Given the description of an element on the screen output the (x, y) to click on. 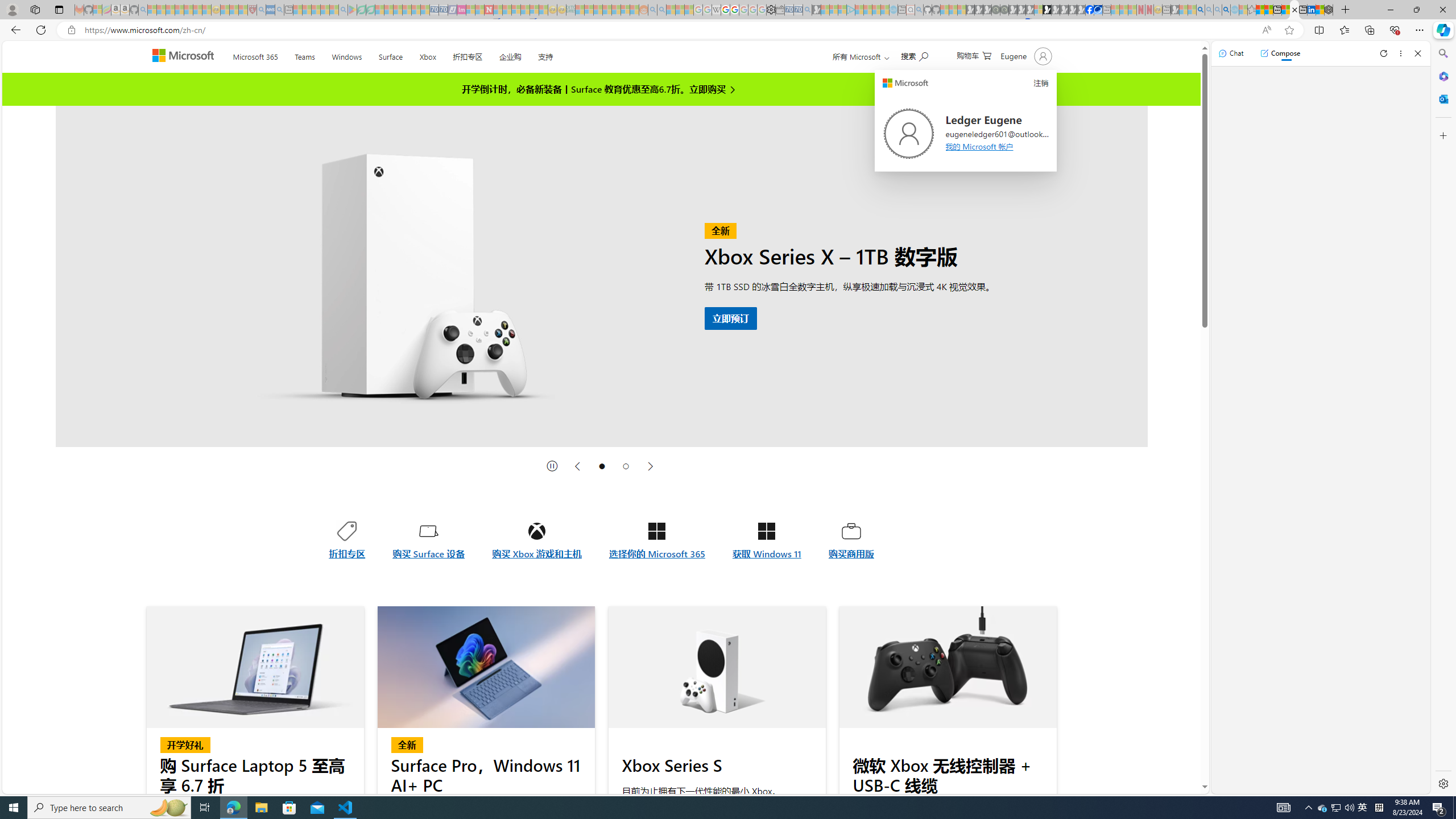
Google Chrome Internet Browser Download - Search Images (1225, 9)
Microsoft-Report a Concern to Bing - Sleeping (97, 9)
Jobs - lastminute.com Investor Portal - Sleeping (461, 9)
Close tab (1295, 9)
Favorites (1344, 29)
Recipes - MSN - Sleeping (224, 9)
New tab - Sleeping (1165, 9)
Future Focus Report 2024 - Sleeping (1004, 9)
Sign in to your account - Sleeping (1038, 9)
